Given the description of an element on the screen output the (x, y) to click on. 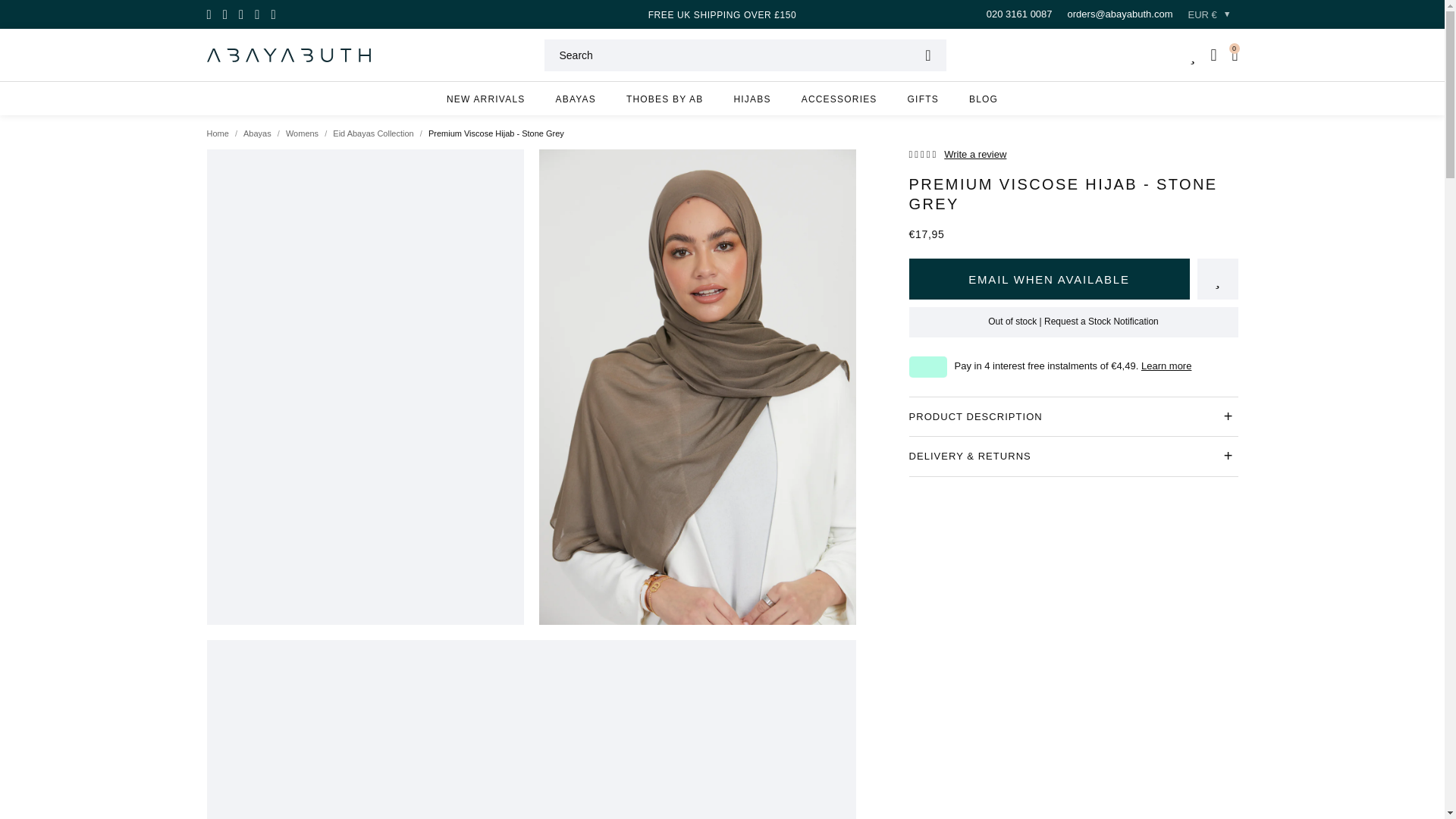
AbayaButh (287, 54)
1 (928, 278)
submit (927, 55)
THOBES BY AB (665, 98)
Eid Abayas Collection (373, 133)
Abayas (256, 133)
NEW ARRIVALS (485, 98)
Home (217, 133)
Sold Out (1072, 278)
020 3161 0087 (1019, 13)
Womens (301, 133)
ABAYAS (575, 98)
